Given the description of an element on the screen output the (x, y) to click on. 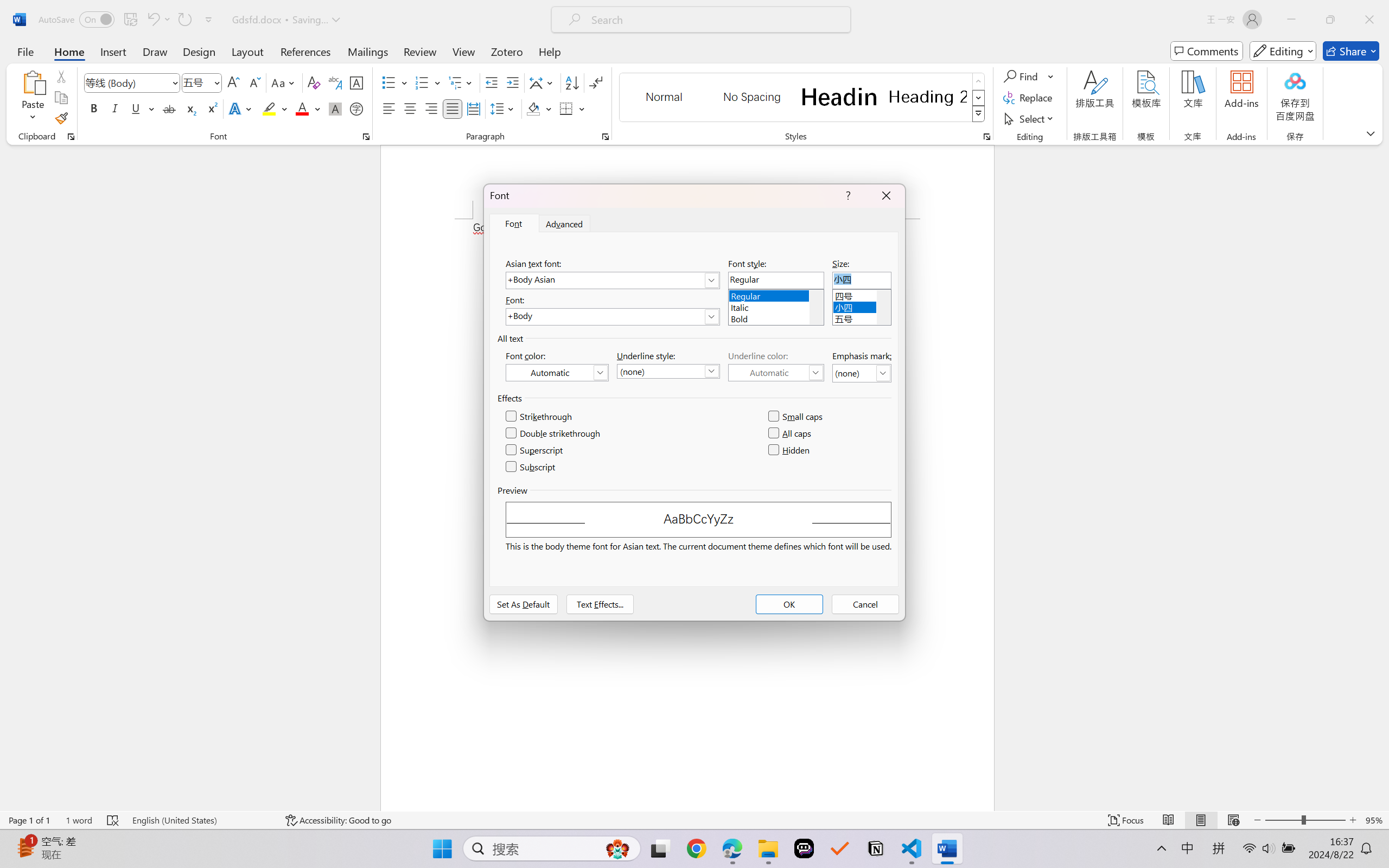
Spelling and Grammar Check Errors (113, 819)
Superscript (210, 108)
Font... (365, 136)
Strikethrough (539, 416)
Increase Indent (512, 82)
